Given the description of an element on the screen output the (x, y) to click on. 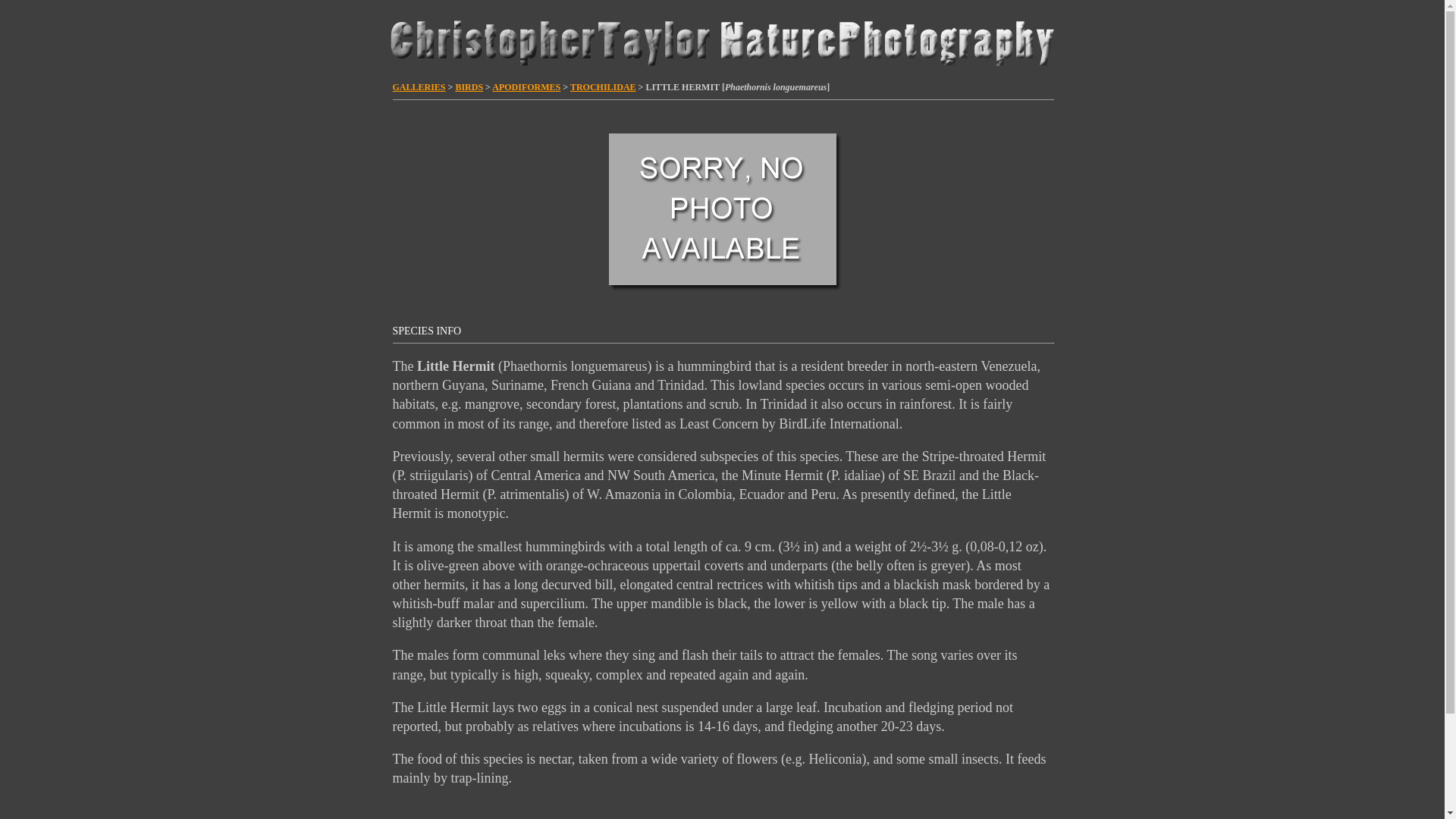
GALLERIES (419, 86)
Christopher Taylor Bird Nature Wildlife Mammal Photography (721, 40)
TROCHILIDAE (603, 86)
Little Hermit Picture (721, 209)
APODIFORMES (526, 86)
BIRDS (468, 86)
